Given the description of an element on the screen output the (x, y) to click on. 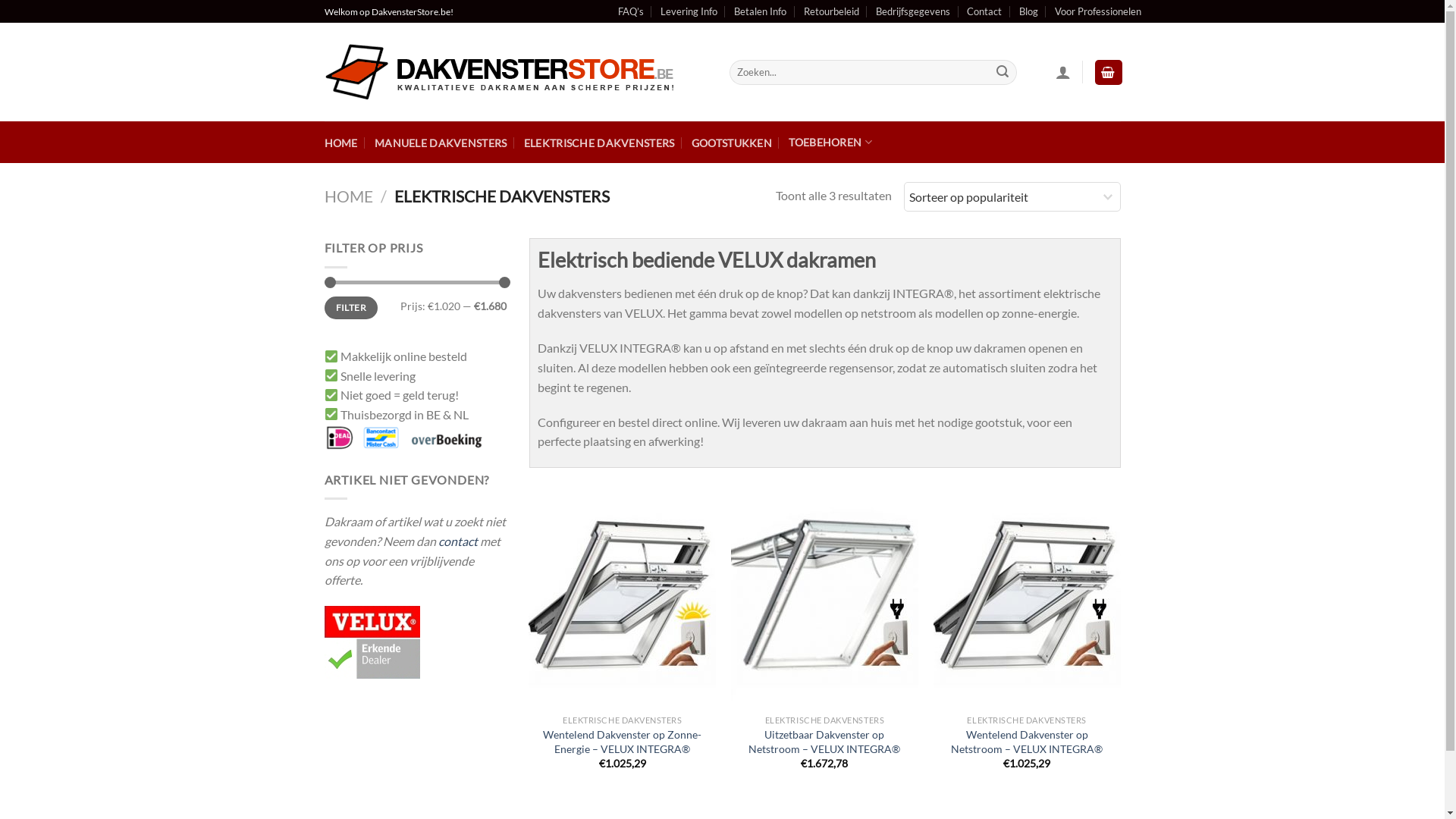
GOOTSTUKKEN Element type: text (731, 142)
contact Element type: text (457, 540)
FILTER Element type: text (351, 308)
Winkelmand Element type: hover (1108, 71)
HOME Element type: text (340, 142)
Levering Info Element type: text (688, 11)
ELEKTRISCHE DAKVENSTERS Element type: text (599, 142)
HOME Element type: text (348, 195)
Betalen Info Element type: text (760, 11)
Voor Professionelen Element type: text (1097, 11)
Zoeken Element type: text (1002, 72)
Bedrijfsgegevens Element type: text (912, 11)
Contact Element type: text (983, 11)
MANUELE DAKVENSTERS Element type: text (440, 142)
TOEBEHOREN Element type: text (829, 141)
Blog Element type: text (1028, 11)
Retourbeleid Element type: text (831, 11)
